Given the description of an element on the screen output the (x, y) to click on. 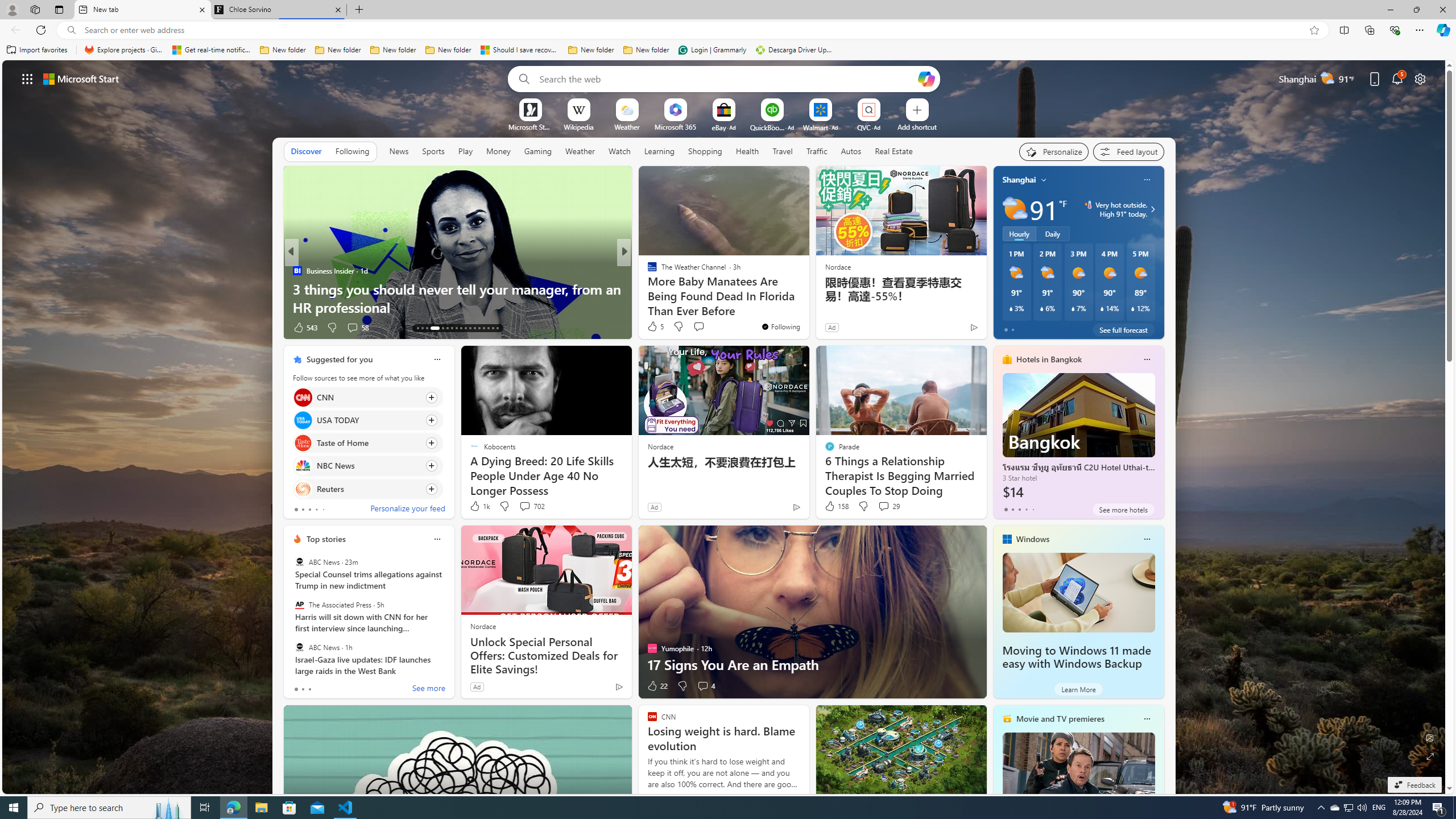
Money (497, 151)
AutomationID: tab-20 (456, 328)
Login | Grammarly (712, 49)
View comments 19 Comment (707, 327)
Class: weather-arrow-glyph (1152, 208)
22 Like (657, 685)
Windows (1032, 538)
6 Like (301, 327)
Add a site (916, 126)
AutomationID: backgroundImagePicture (723, 426)
BuzzFeed (647, 270)
